Given the description of an element on the screen output the (x, y) to click on. 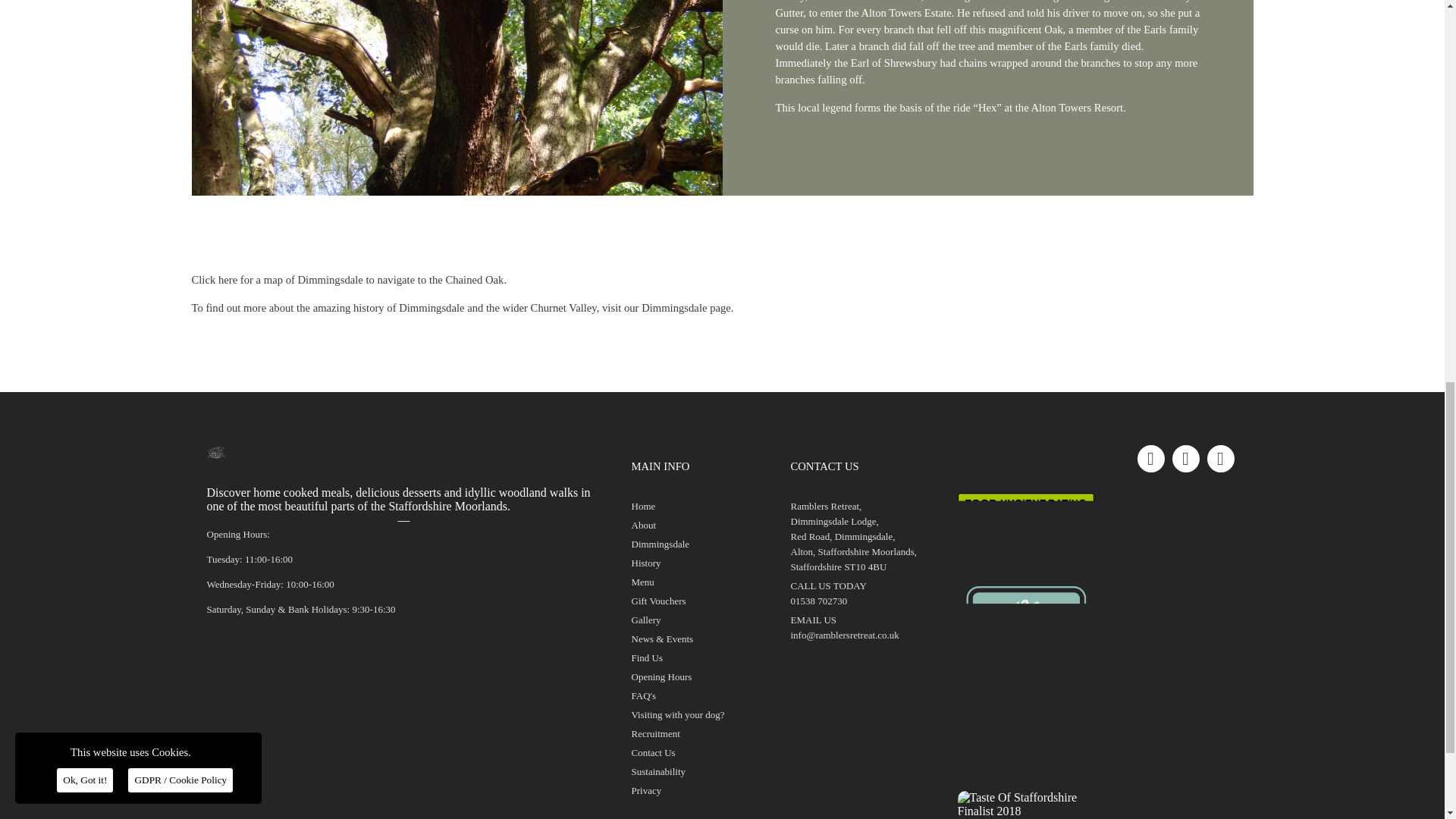
instagram (1185, 458)
twitter (1220, 458)
Facebook (1150, 458)
